Given the description of an element on the screen output the (x, y) to click on. 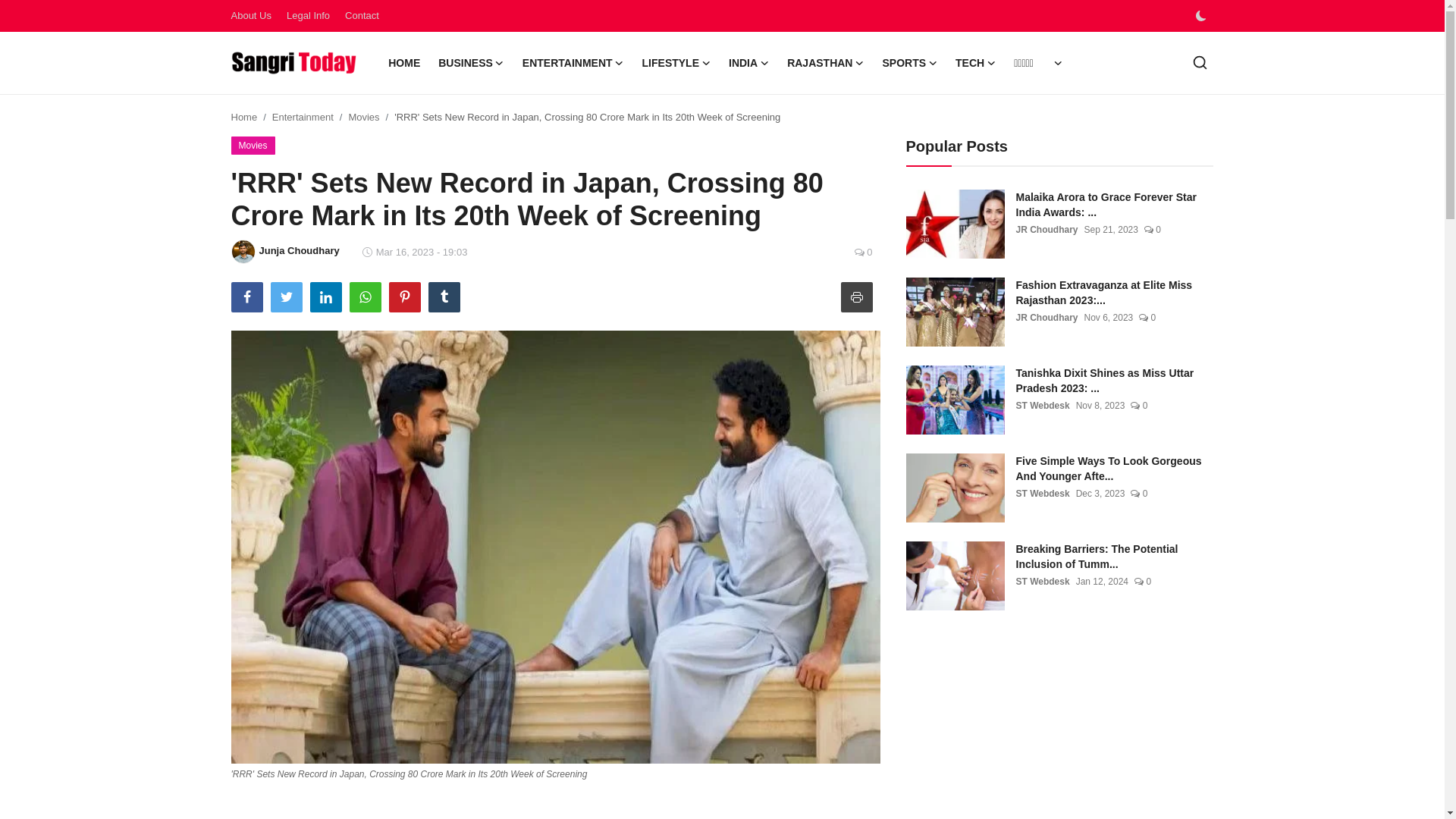
Advertisement (1032, 737)
Contact (361, 15)
INDIA (748, 62)
BUSINESS (471, 62)
SPORTS (909, 62)
Legal Info (308, 15)
TECH (975, 62)
dark (1200, 15)
ENTERTAINMENT (573, 62)
LIFESTYLE (676, 62)
Advertisement (555, 805)
About Us (250, 15)
HOME (403, 62)
RAJASTHAN (824, 62)
